Given the description of an element on the screen output the (x, y) to click on. 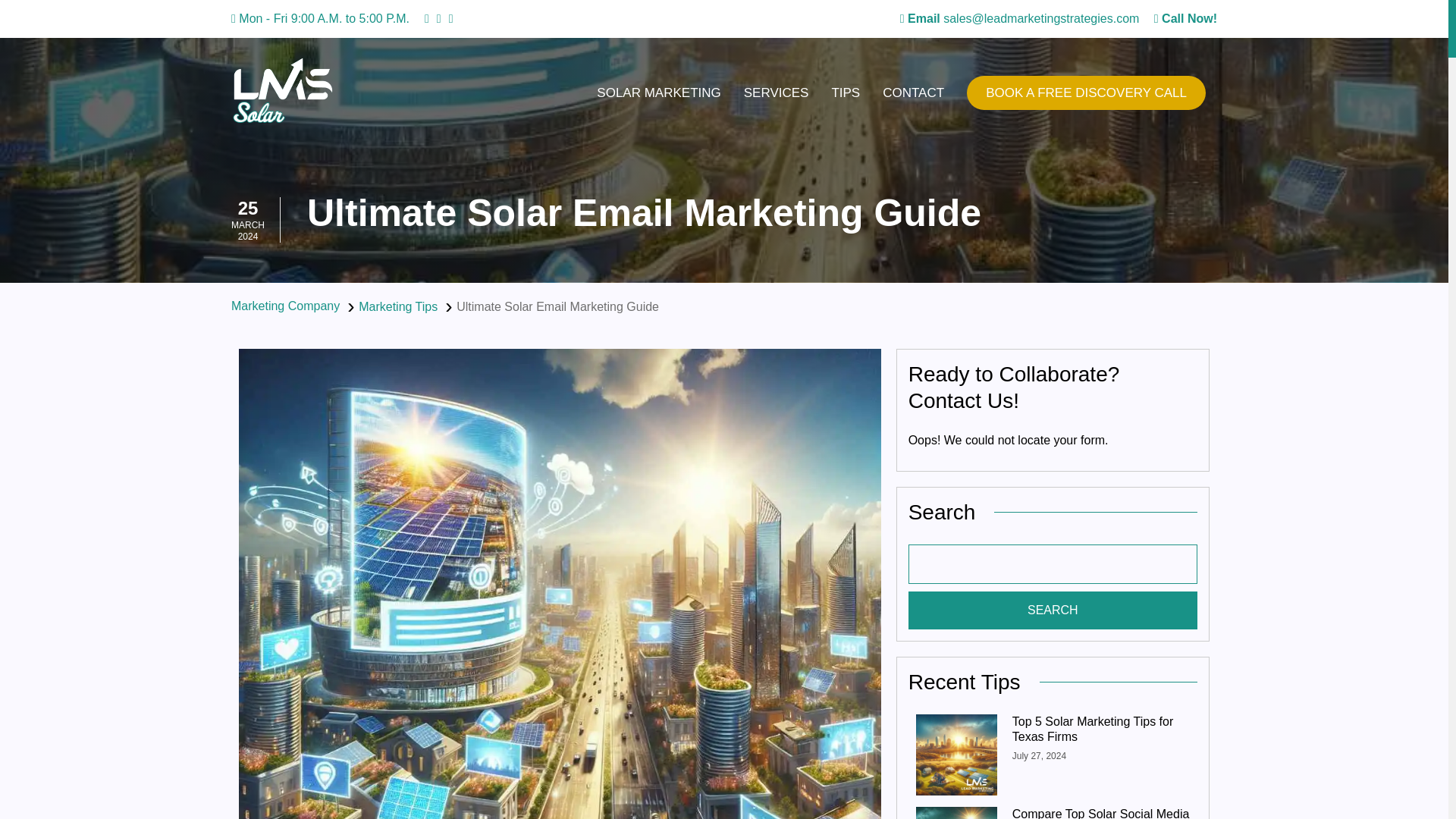
CONTACT (912, 92)
Call Now! (1185, 18)
SEARCH (1052, 610)
Marketing Company (285, 305)
Tips (844, 92)
SOLAR MARKETING (658, 92)
Solar Marketing (658, 92)
Contact (912, 92)
Compare Top Solar Social Media Strategies Near Me (1100, 812)
Top 5 Solar Marketing Tips for Texas Firms (1100, 729)
SERVICES (776, 92)
BOOK A FREE DISCOVERY CALL (1086, 92)
Services (776, 92)
Ultimate Solar Email Marketing Guide (558, 306)
Marketing Tips (398, 306)
